Given the description of an element on the screen output the (x, y) to click on. 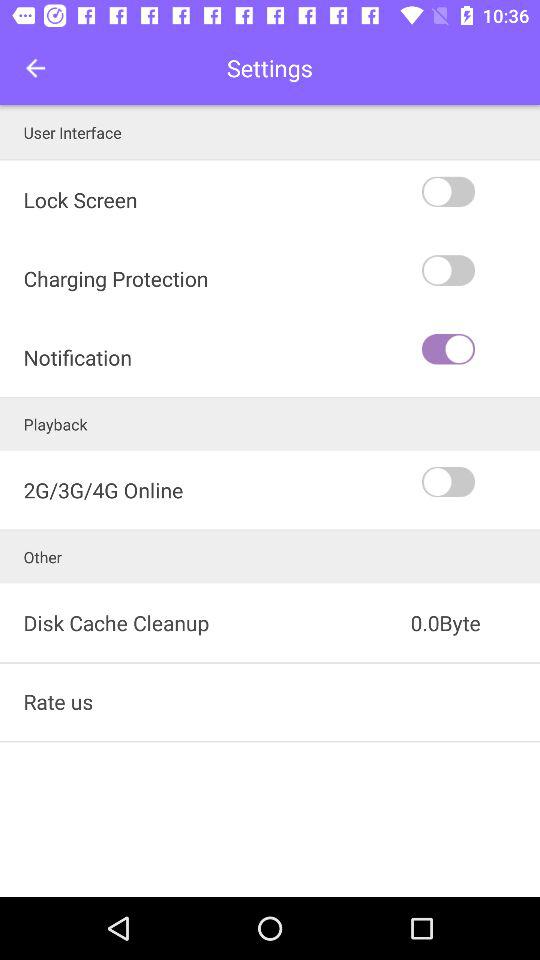
click on the button beside 2g3g4g online (478, 482)
